Given the description of an element on the screen output the (x, y) to click on. 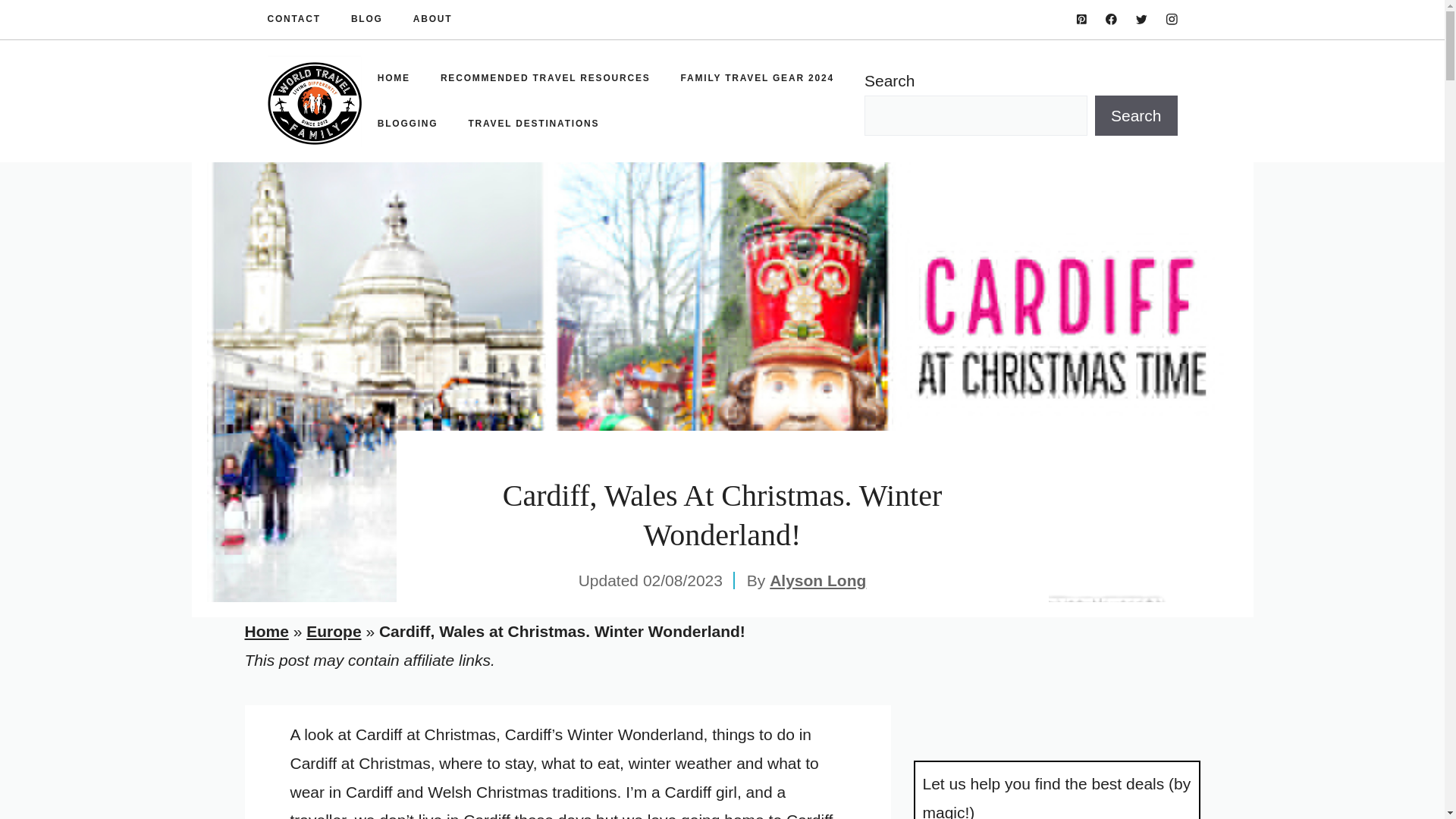
FAMILY TRAVEL GEAR 2024 (756, 77)
CONTACT (293, 19)
Alyson Long (818, 579)
Home (266, 630)
BLOGGING (407, 123)
TRAVEL DESTINATIONS (533, 123)
RECOMMENDED TRAVEL RESOURCES (545, 77)
BLOG (366, 19)
Europe (333, 630)
Search (1135, 115)
